Given the description of an element on the screen output the (x, y) to click on. 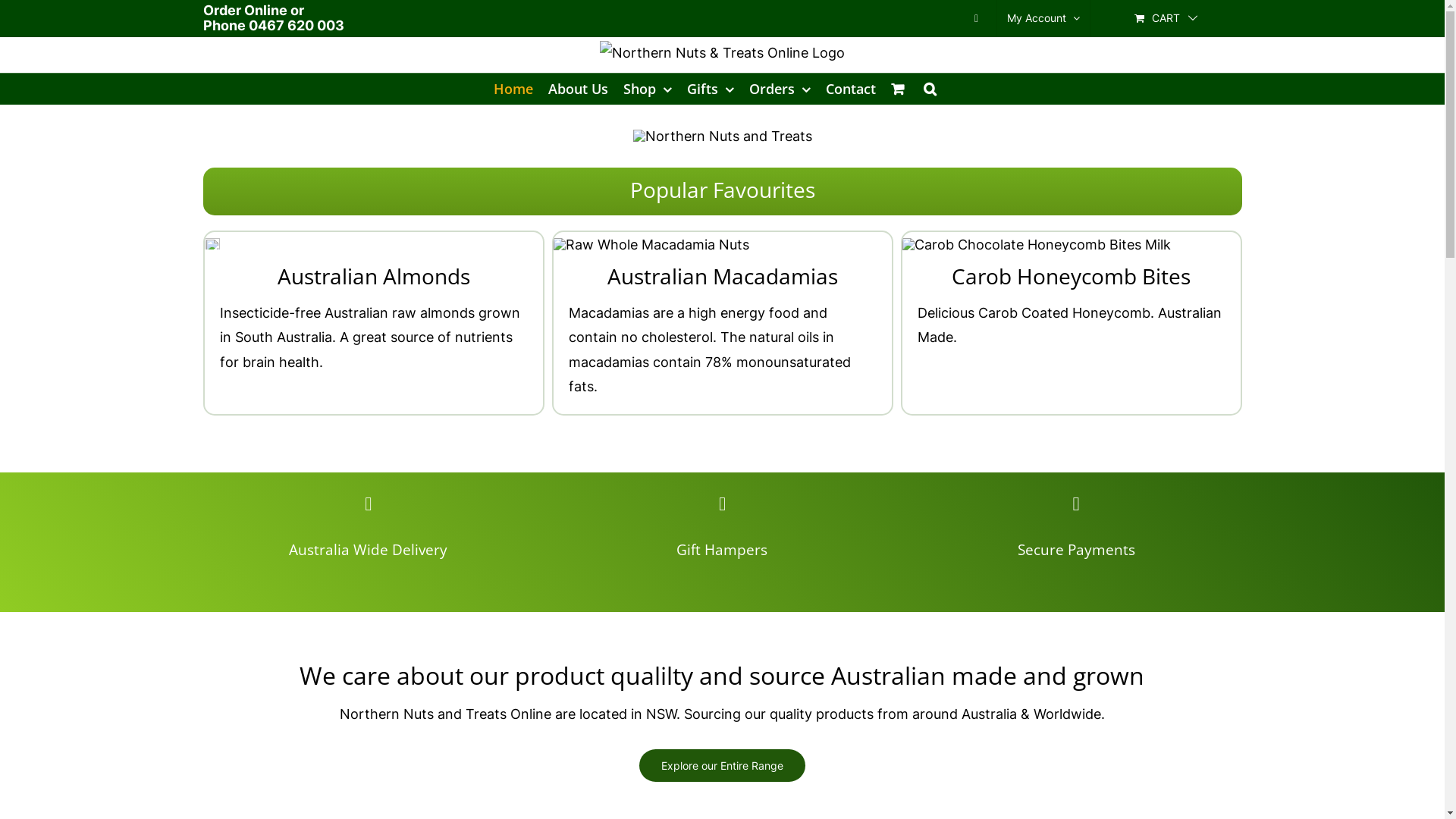
Contact Element type: text (850, 88)
Home Element type: text (512, 88)
Gifts Element type: text (710, 88)
0467 620 003 Element type: text (296, 25)
Search Element type: hover (929, 88)
Orders Element type: text (779, 88)
Carob Chocolate Honeycomb Bites Milk Element type: hover (1036, 244)
Raw Whole Macadamia Nuts Element type: hover (651, 244)
Explore our Entire Range Element type: text (722, 765)
Shop Element type: text (647, 88)
Log In Element type: text (1104, 179)
10223 Element type: hover (211, 243)
My Account Element type: text (1042, 18)
CART Element type: text (1166, 18)
About Us Element type: text (577, 88)
